Given the description of an element on the screen output the (x, y) to click on. 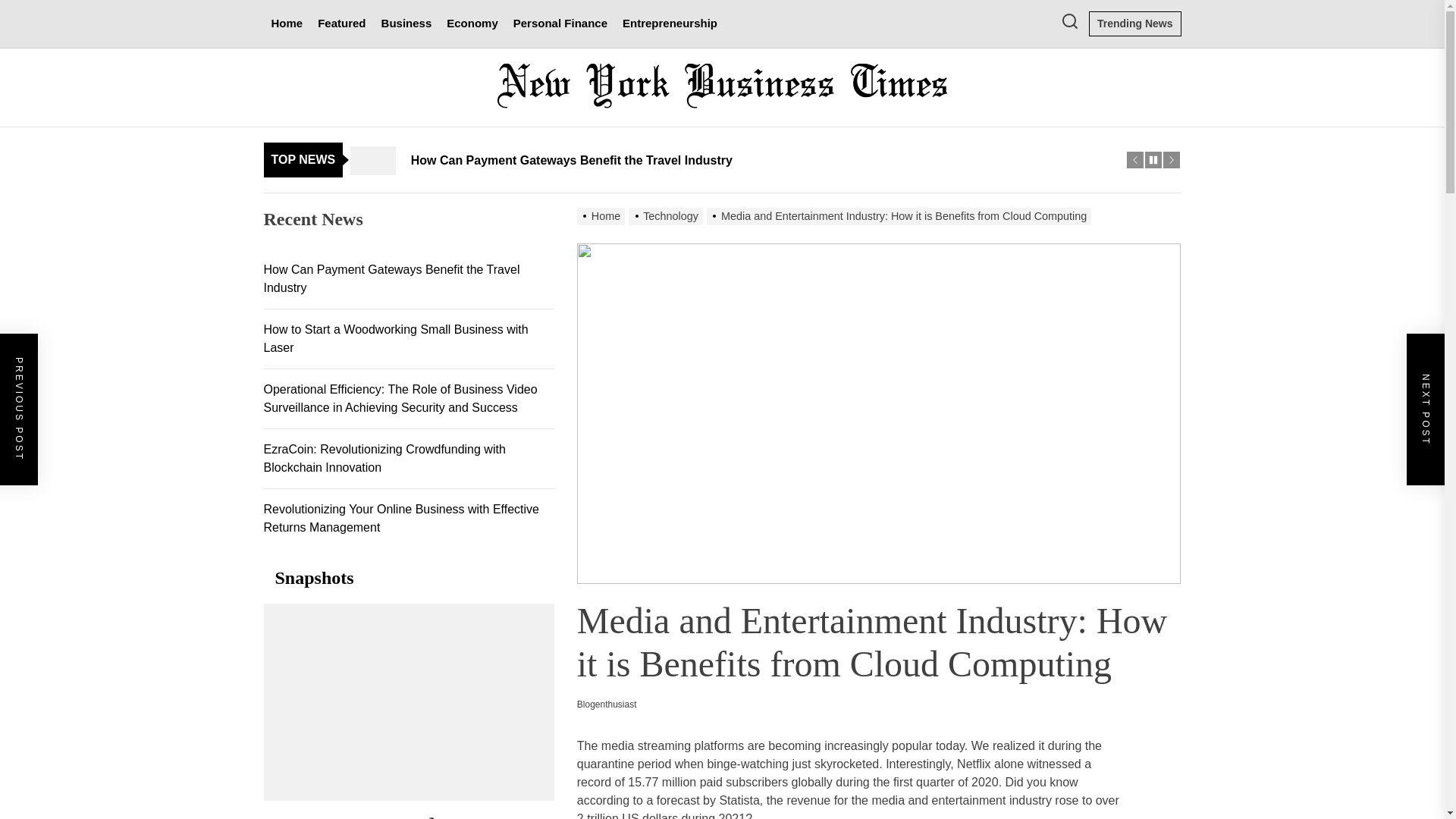
Personal Finance (559, 23)
Trending News (1134, 23)
Featured (341, 23)
How Can Payment Gateways Benefit the Travel Industry (738, 159)
Business (406, 23)
How Can Payment Gateways Benefit the Travel Industry (738, 159)
Home (287, 23)
Entrepreneurship (669, 23)
Economy (472, 23)
